Given the description of an element on the screen output the (x, y) to click on. 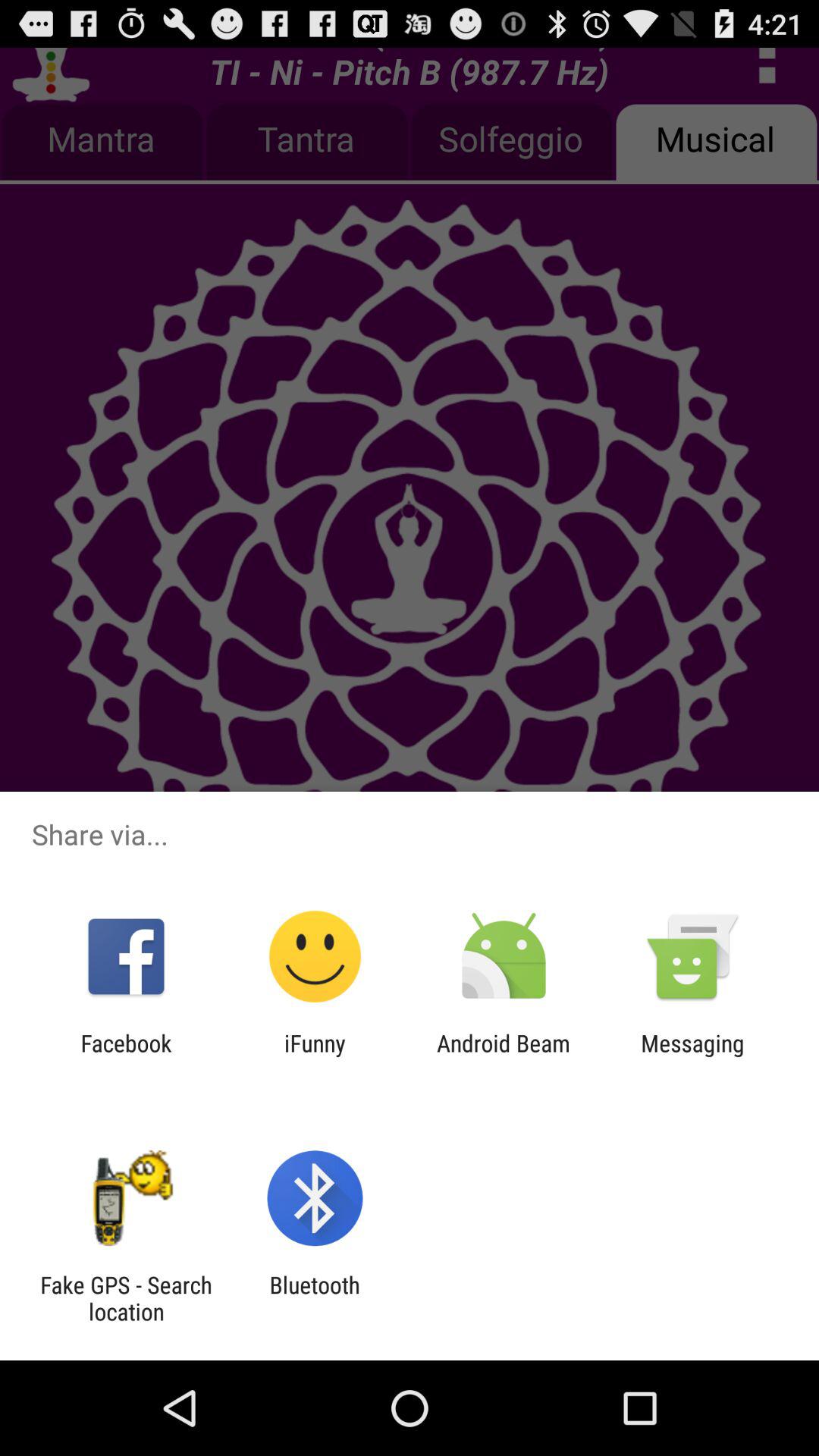
select the bluetooth app (314, 1298)
